Given the description of an element on the screen output the (x, y) to click on. 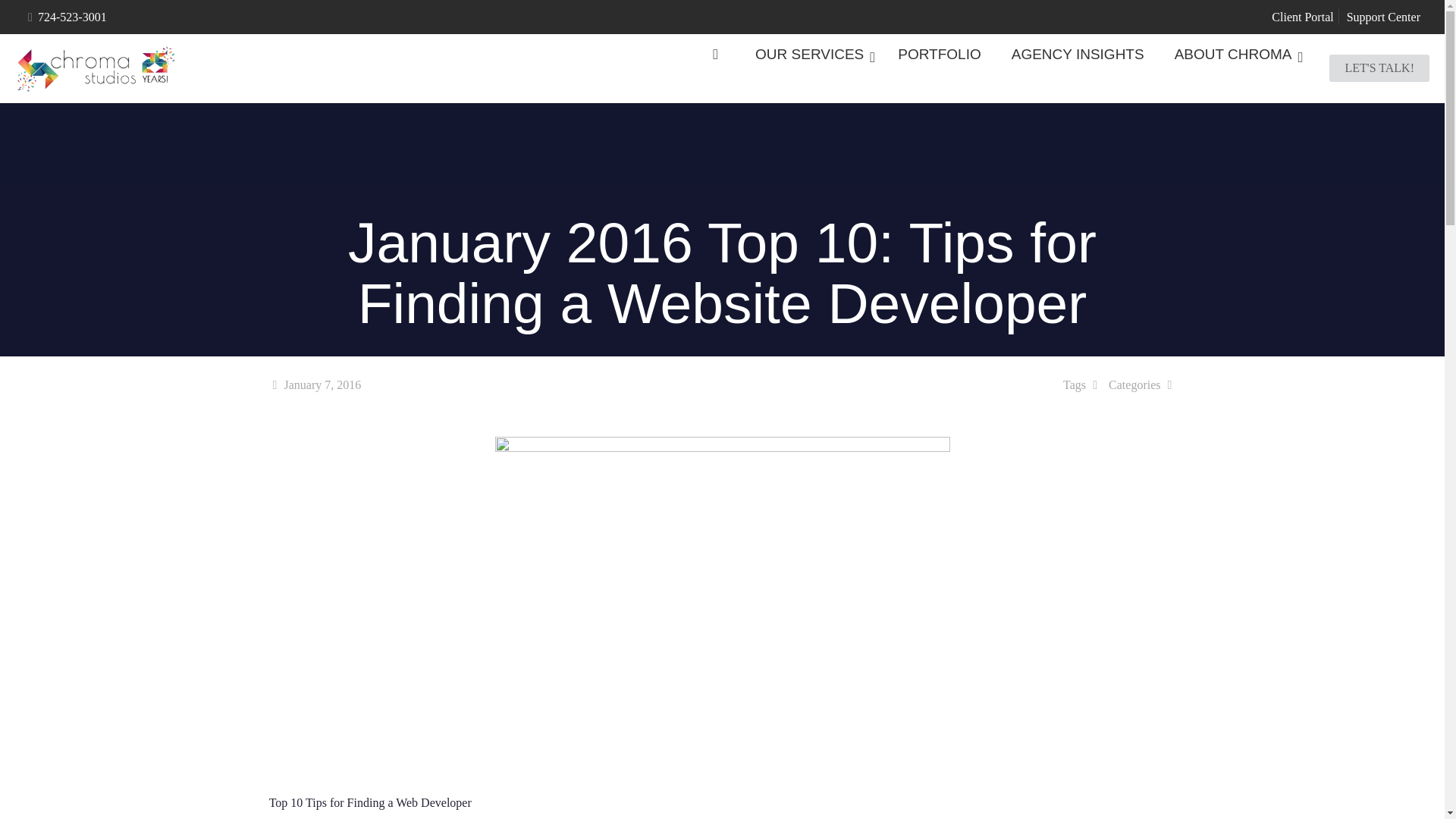
ABOUT CHROMA (1234, 55)
OUR SERVICES (810, 55)
Chroma Studios (94, 68)
LET'S TALK! (1379, 67)
Client Portal (1302, 16)
PORTFOLIO (938, 55)
Support Center (1383, 16)
724-523-3001 (71, 16)
AGENCY INSIGHTS (1076, 55)
